Given the description of an element on the screen output the (x, y) to click on. 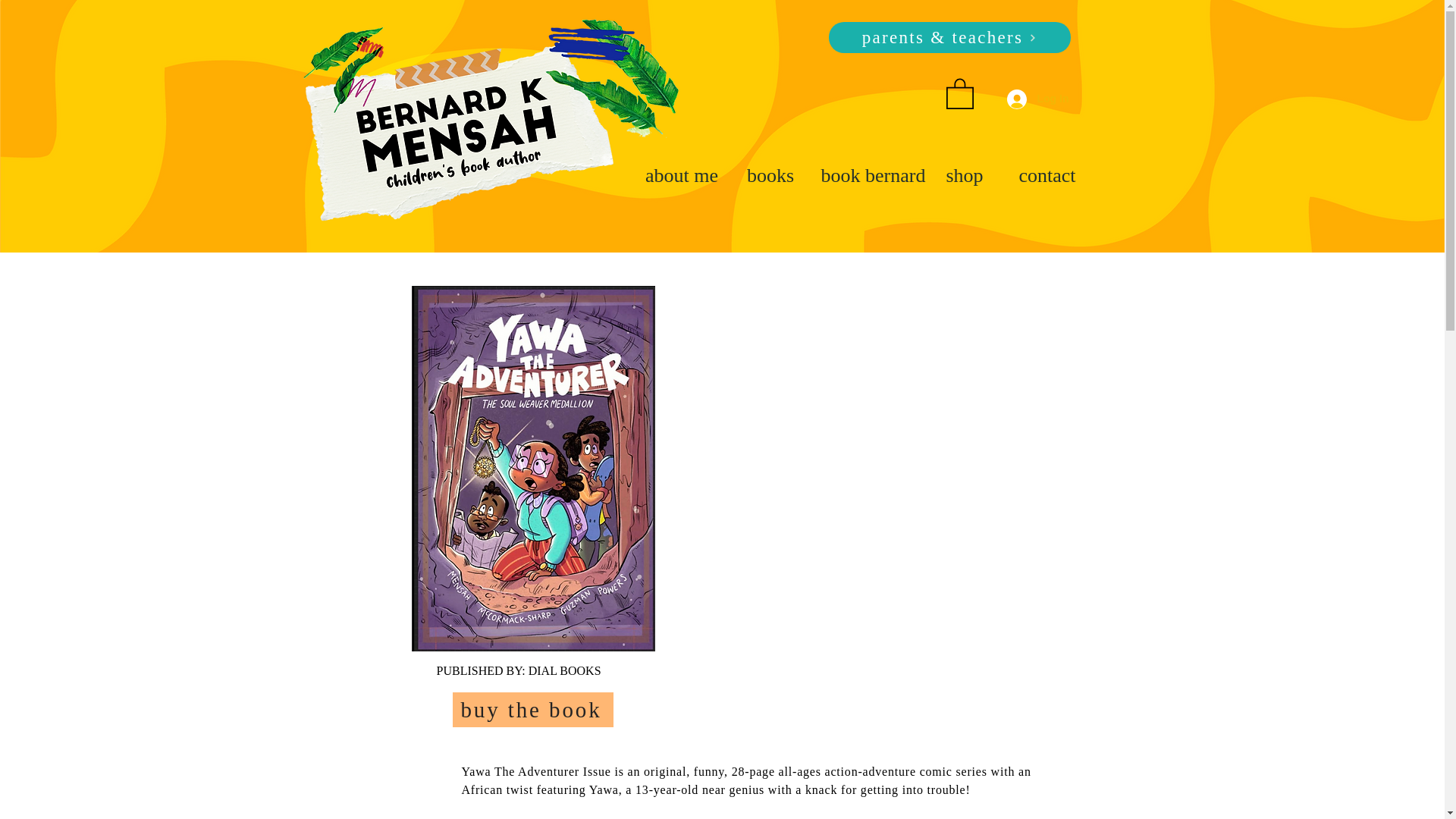
Log In (1037, 99)
about me (681, 174)
buy the book (531, 709)
contact (1047, 174)
book bernard (868, 174)
shop (964, 174)
